Given the description of an element on the screen output the (x, y) to click on. 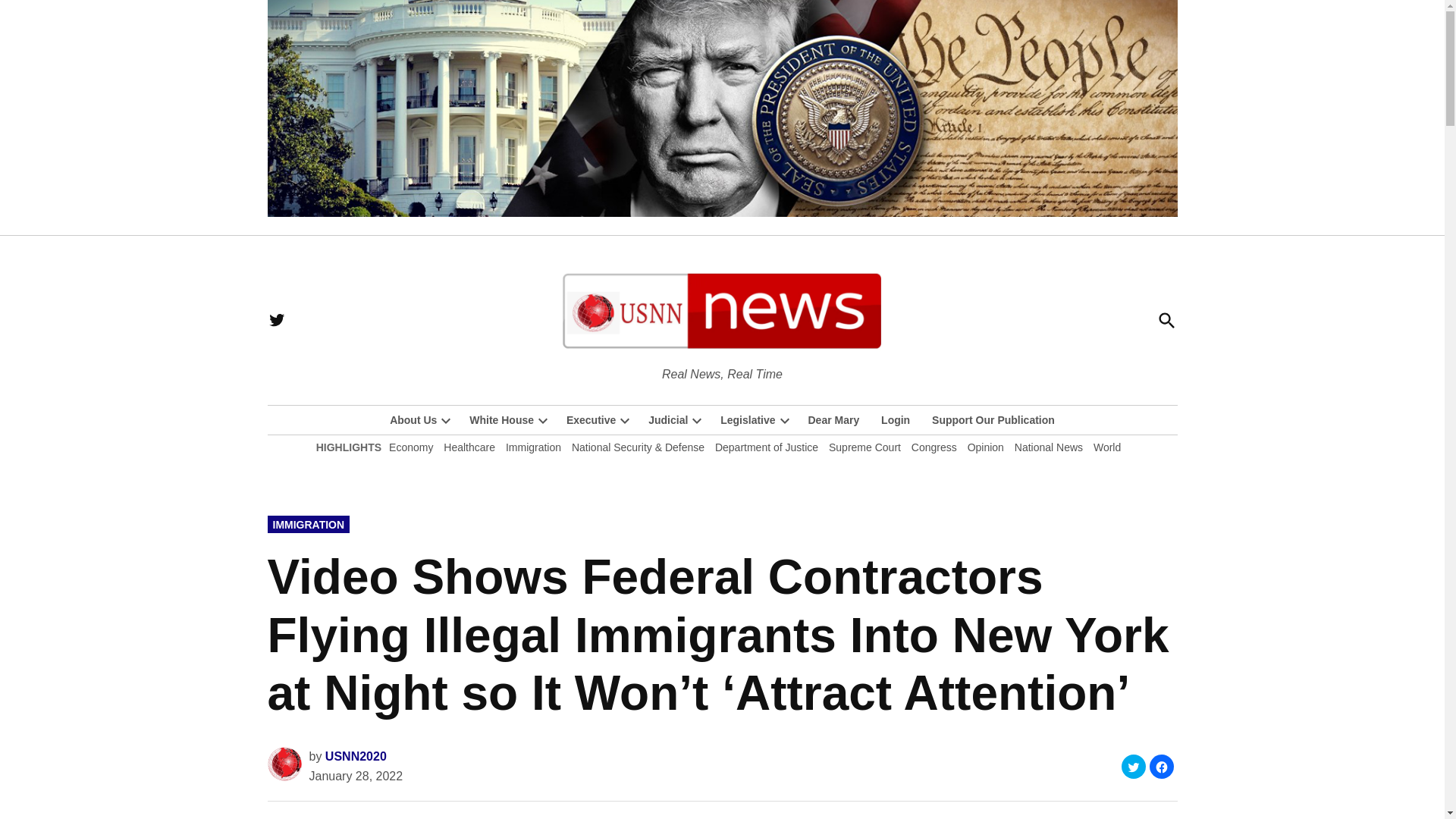
Open dropdown menu (542, 419)
Click to share on Facebook (1161, 766)
Executive (587, 419)
About Us (413, 419)
Open dropdown menu (624, 419)
Open dropdown menu (445, 419)
USNN World News (815, 373)
Click to share on Twitter (1132, 766)
White House (497, 419)
Twitter (275, 320)
